Given the description of an element on the screen output the (x, y) to click on. 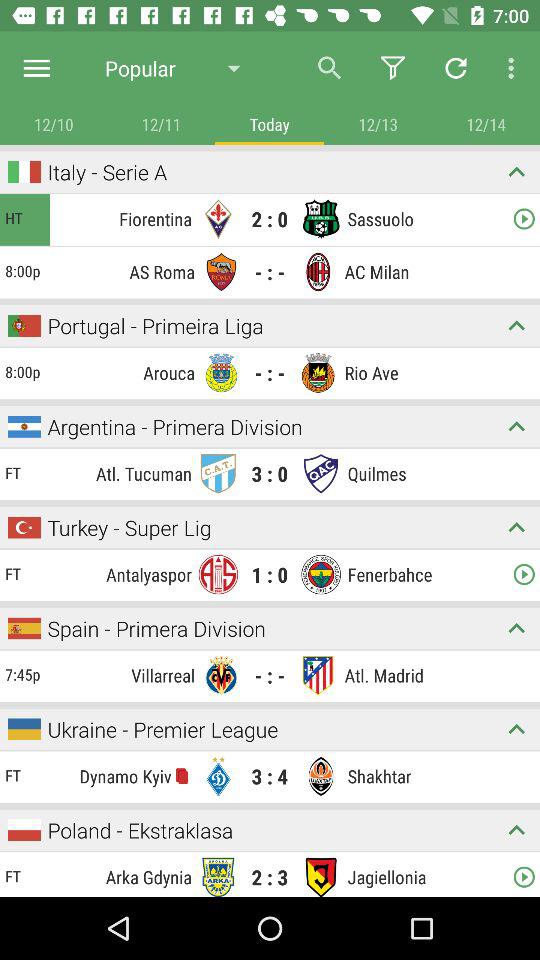
expand on topic (516, 829)
